Given the description of an element on the screen output the (x, y) to click on. 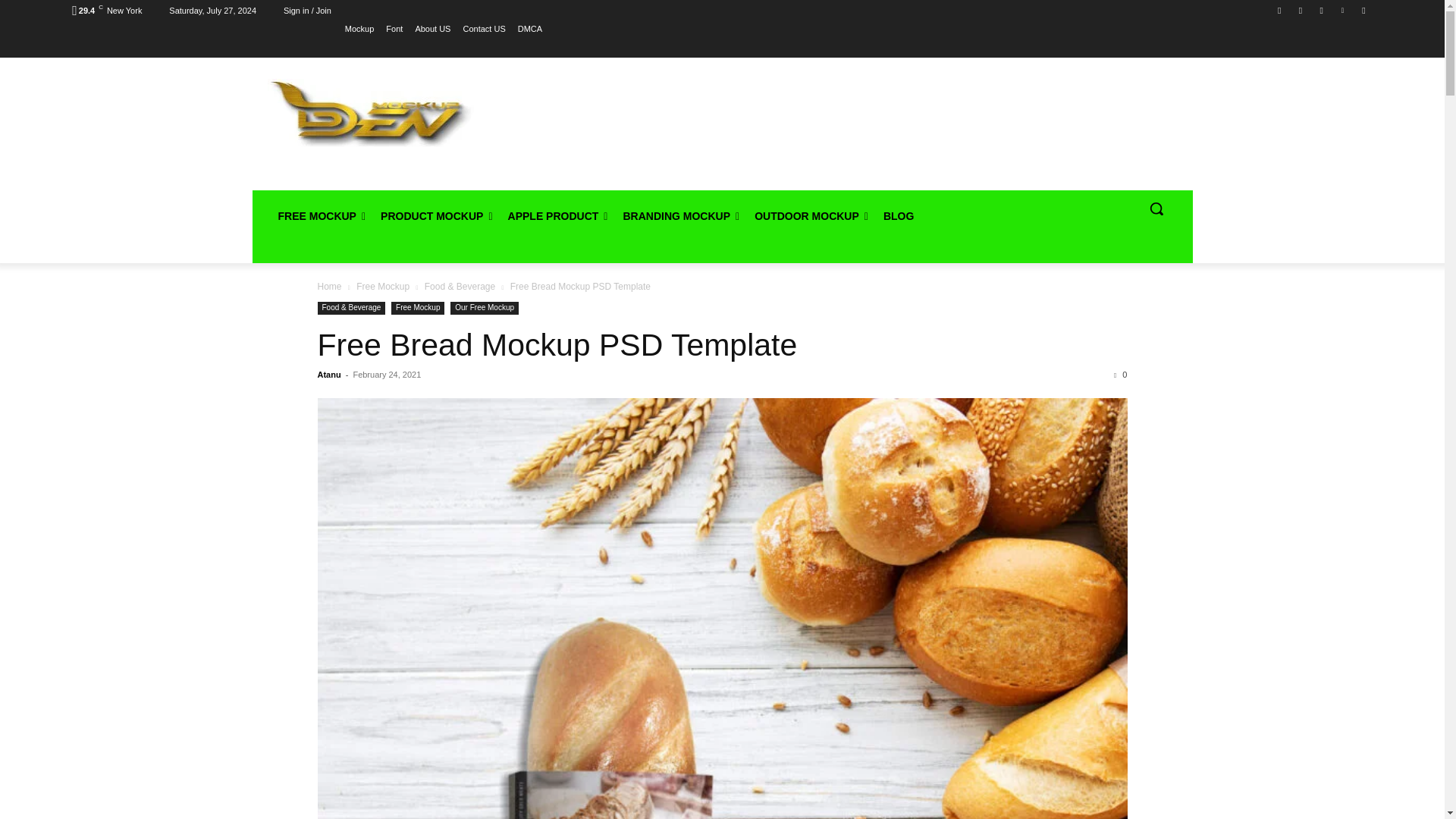
About US (431, 28)
View all posts in Free Mockup (382, 286)
Twitter (1321, 9)
Facebook (1279, 9)
Mockup (359, 28)
Instagram (1300, 9)
Contact US (484, 28)
FREE MOCKUP (320, 215)
Youtube (1364, 9)
